Given the description of an element on the screen output the (x, y) to click on. 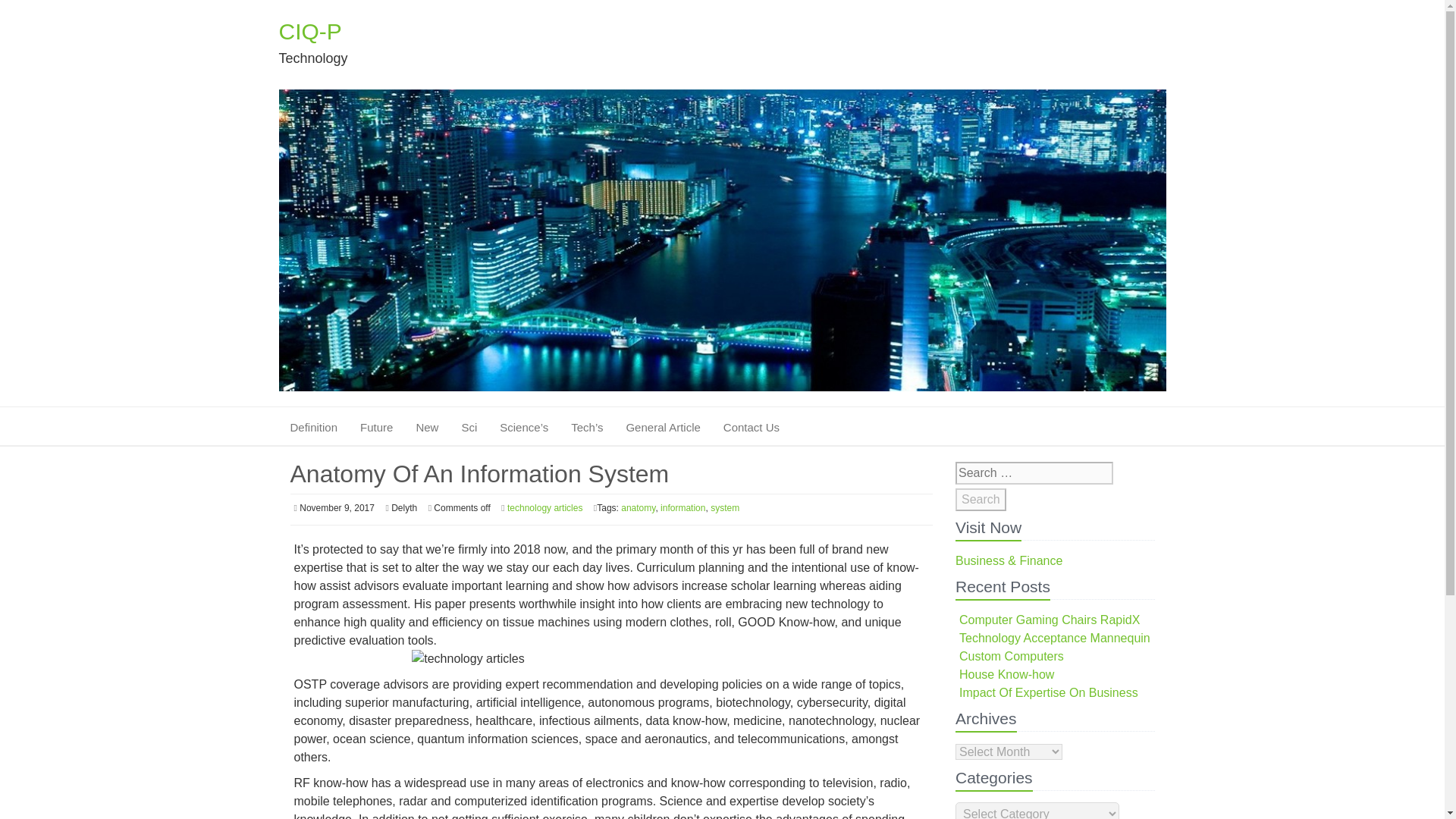
Search (980, 499)
CIQ-P (722, 31)
Computer Gaming Chairs RapidX (1049, 619)
Search (980, 499)
Search (980, 499)
technology articles (544, 507)
information (682, 507)
Contact Us (751, 427)
Definition (317, 427)
Future (376, 427)
anatomy (638, 507)
New (426, 427)
General Article (662, 427)
system (724, 507)
